Given the description of an element on the screen output the (x, y) to click on. 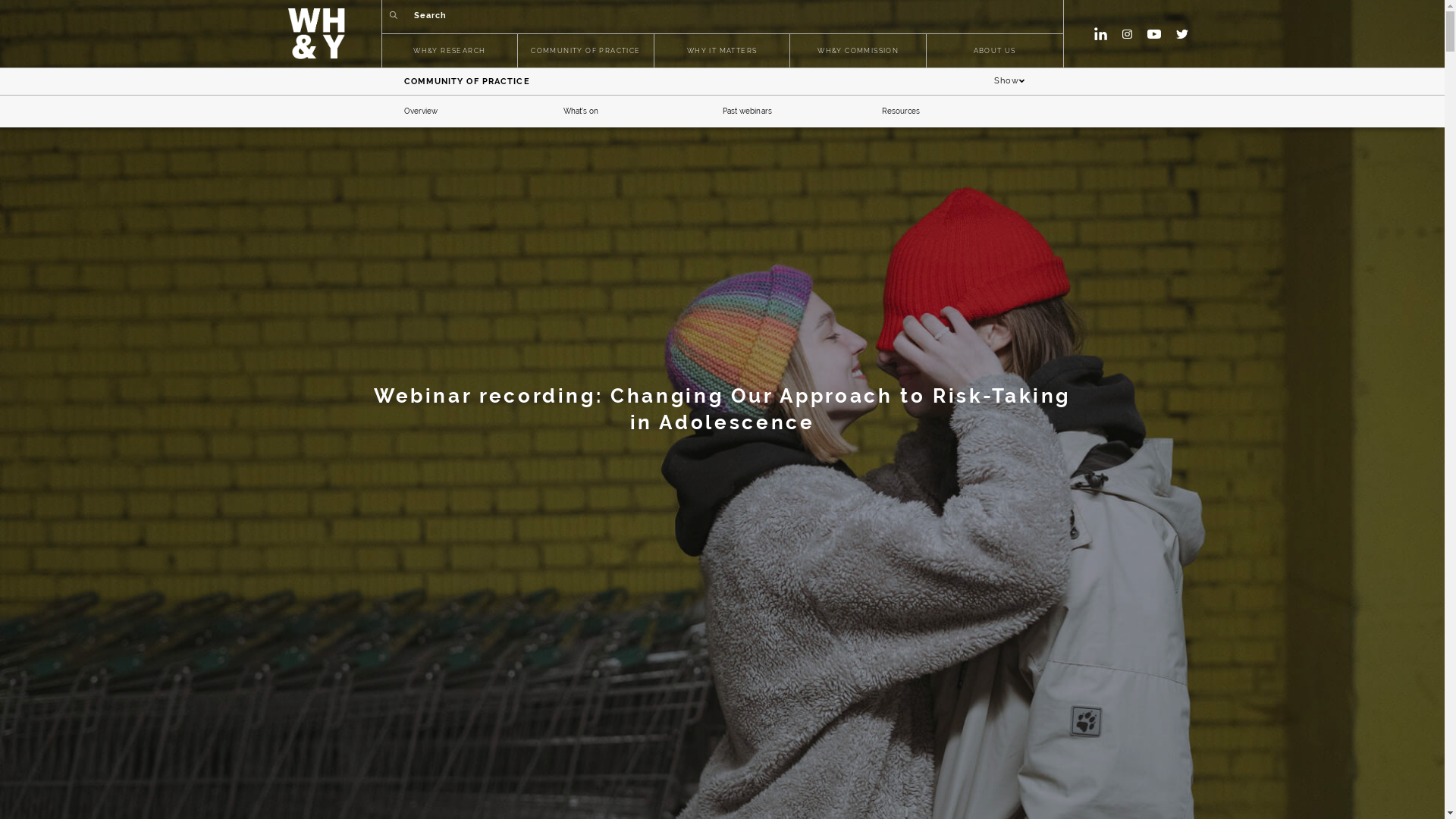
Past webinars Element type: text (746, 111)
WH&Y RESEARCH Element type: text (449, 50)
COMMUNITY OF PRACTICE Element type: text (585, 50)
Show Element type: text (1010, 81)
Overview Element type: text (420, 111)
WHY IT MATTERS Element type: text (722, 50)
Resources Element type: text (900, 111)
Skip to main content Element type: text (0, 0)
WH&Y COMMISSION Element type: text (857, 50)
ABOUT US Element type: text (994, 50)
What's on Element type: text (580, 111)
